Given the description of an element on the screen output the (x, y) to click on. 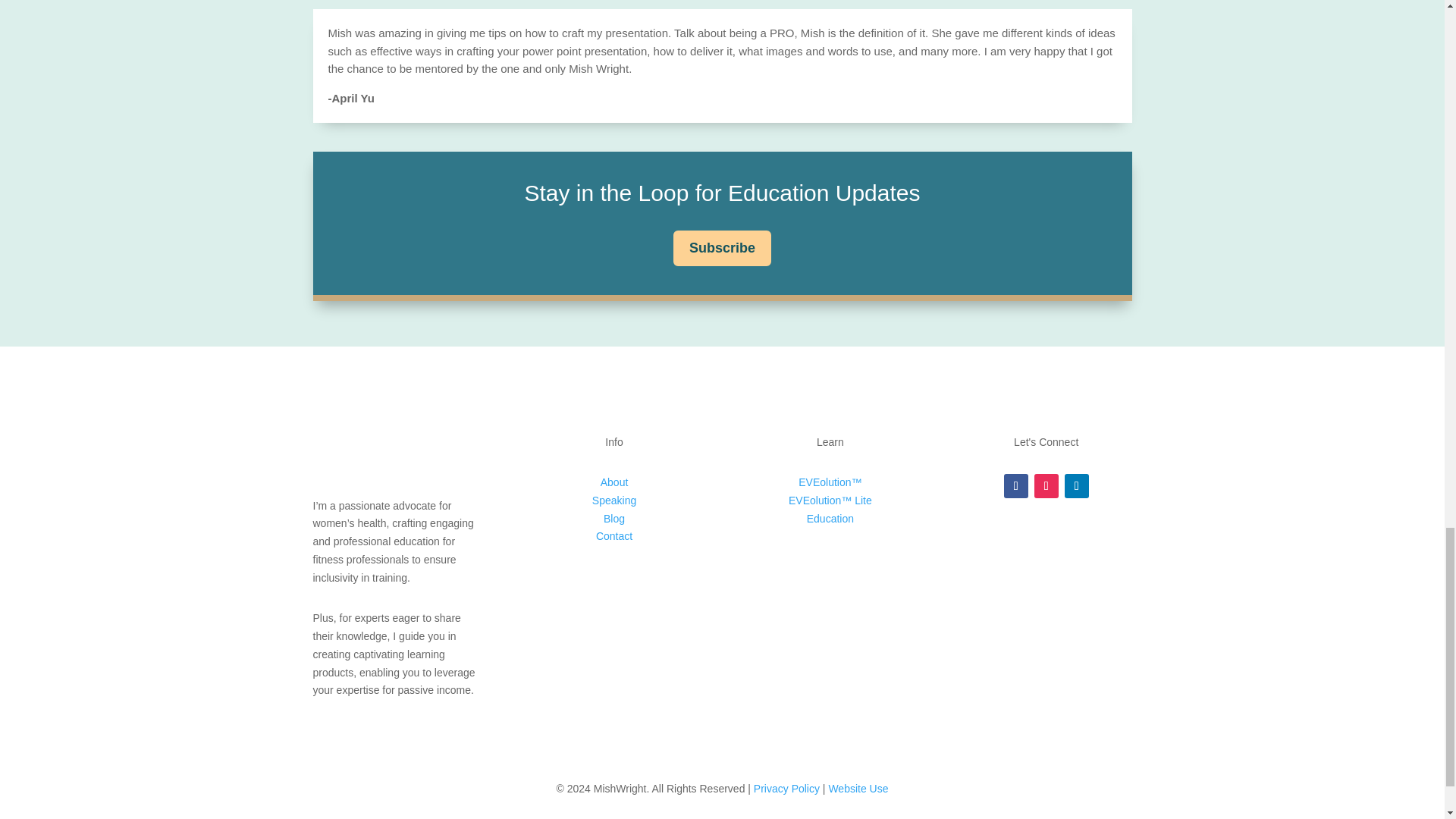
Follow on Facebook (1015, 485)
Speaking (614, 500)
Contact (613, 535)
About (613, 481)
Blog (614, 518)
Follow on Instagram (1045, 485)
